Given the description of an element on the screen output the (x, y) to click on. 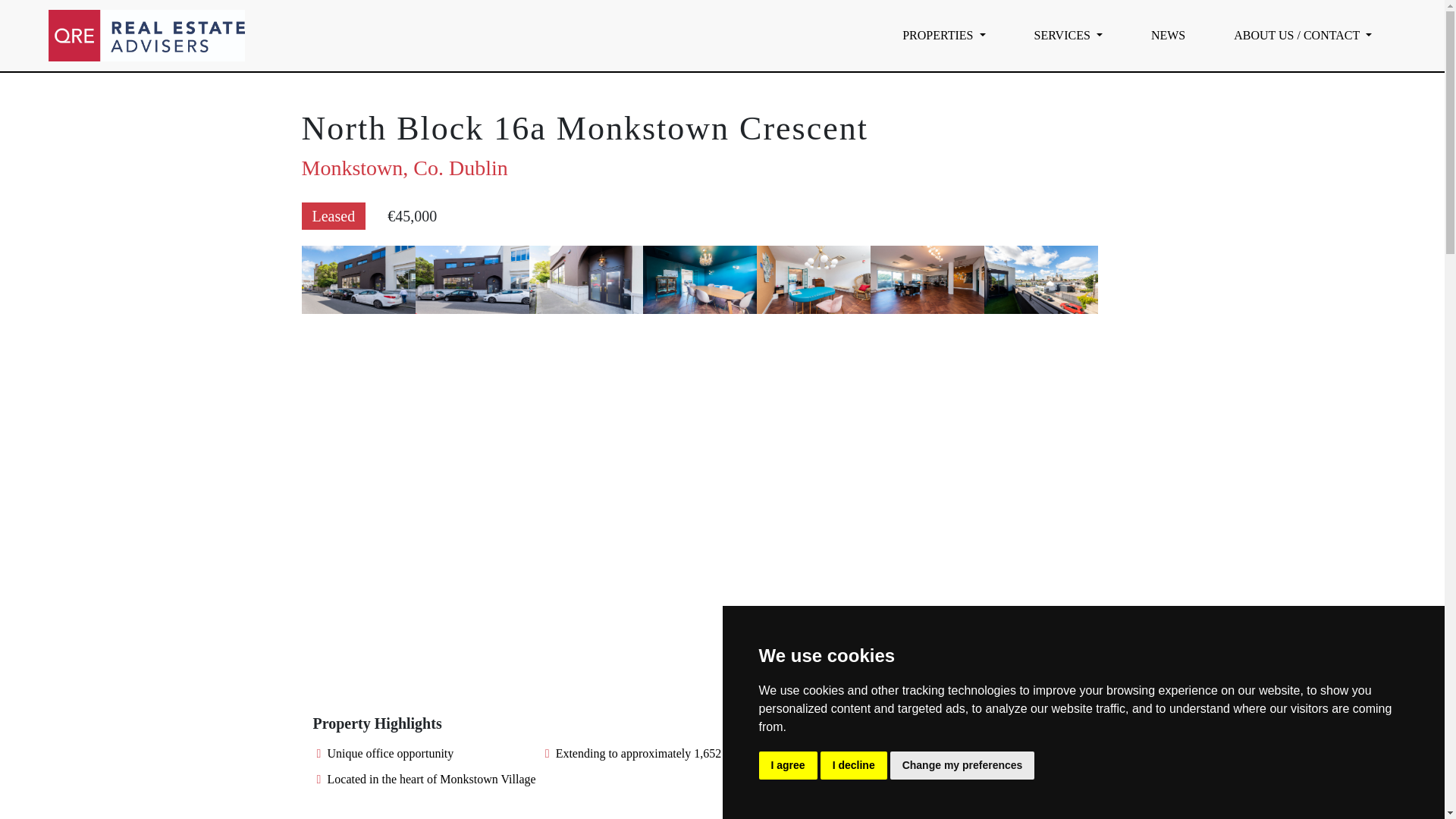
I agree (787, 765)
I decline (853, 765)
Change my preferences (962, 765)
SERVICES (1067, 35)
PROPERTIES (943, 35)
NEWS (1167, 35)
